Given the description of an element on the screen output the (x, y) to click on. 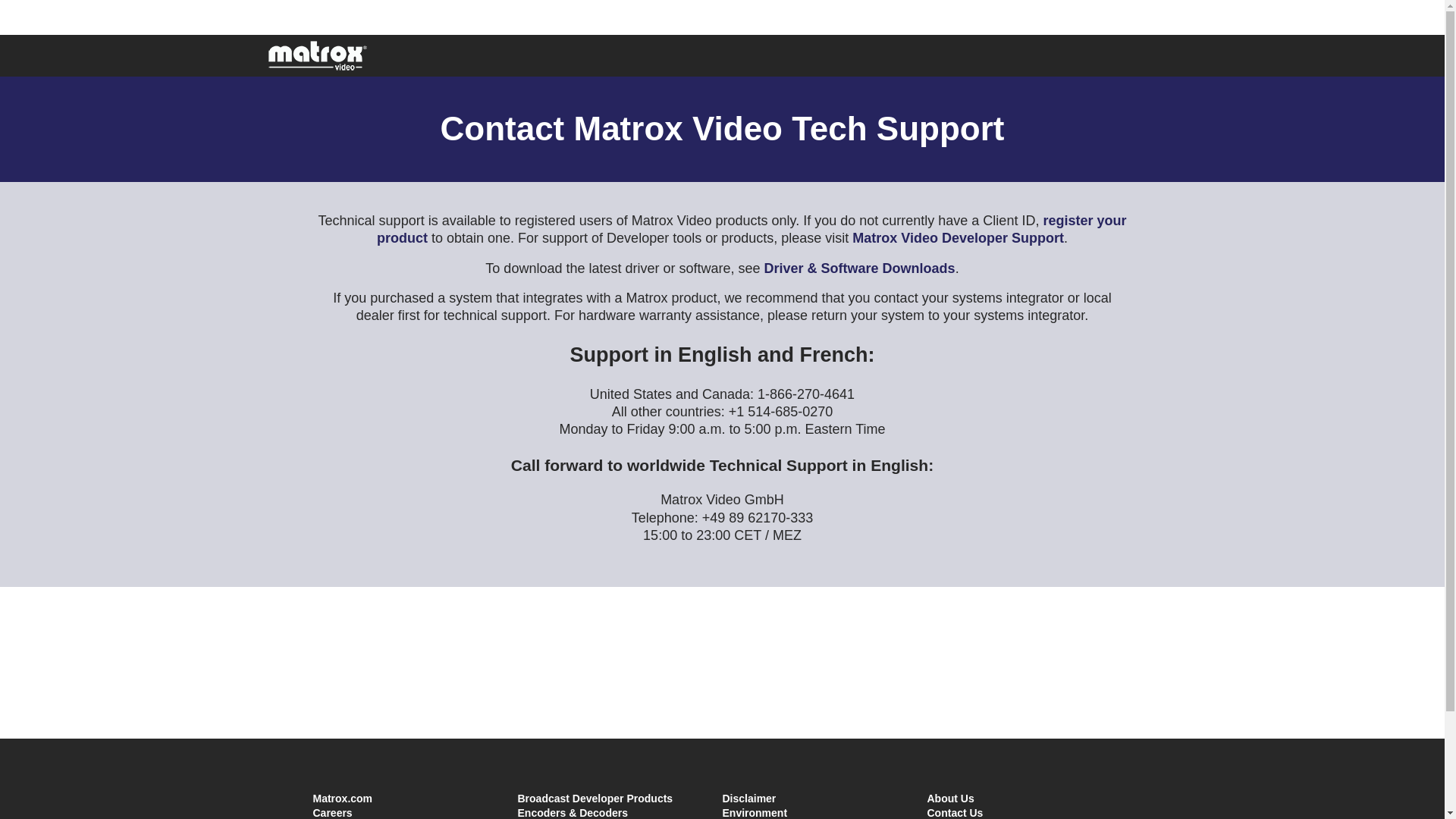
Careers (332, 812)
Matrox Video Developer Support (957, 237)
Broadcast Developer Products (594, 798)
Contact Us (954, 812)
Disclaimer (749, 798)
register your product (751, 228)
Matrox.com (342, 798)
About Us (950, 798)
Environment (754, 812)
